Given the description of an element on the screen output the (x, y) to click on. 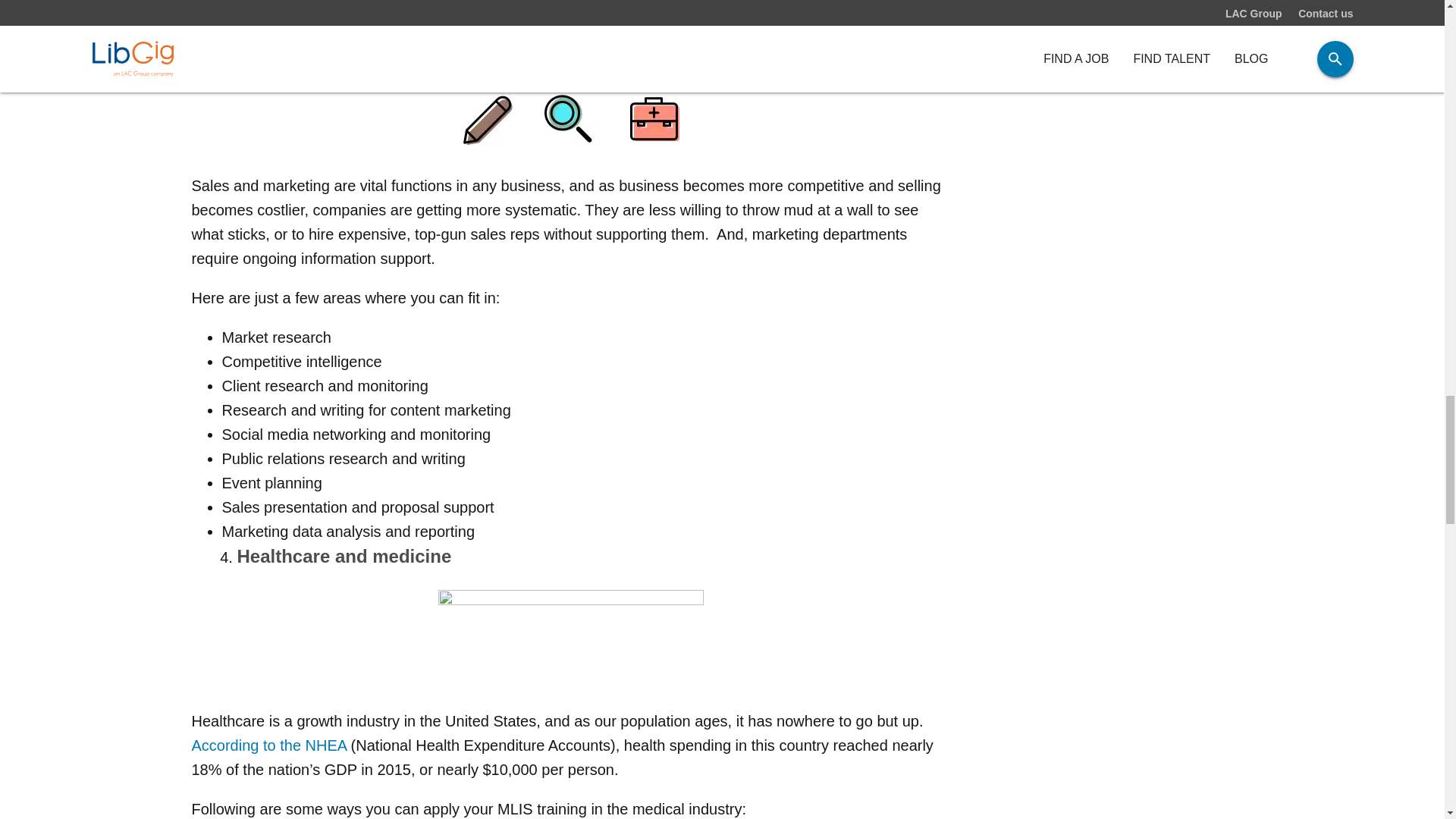
According to the NHEA (268, 745)
